Given the description of an element on the screen output the (x, y) to click on. 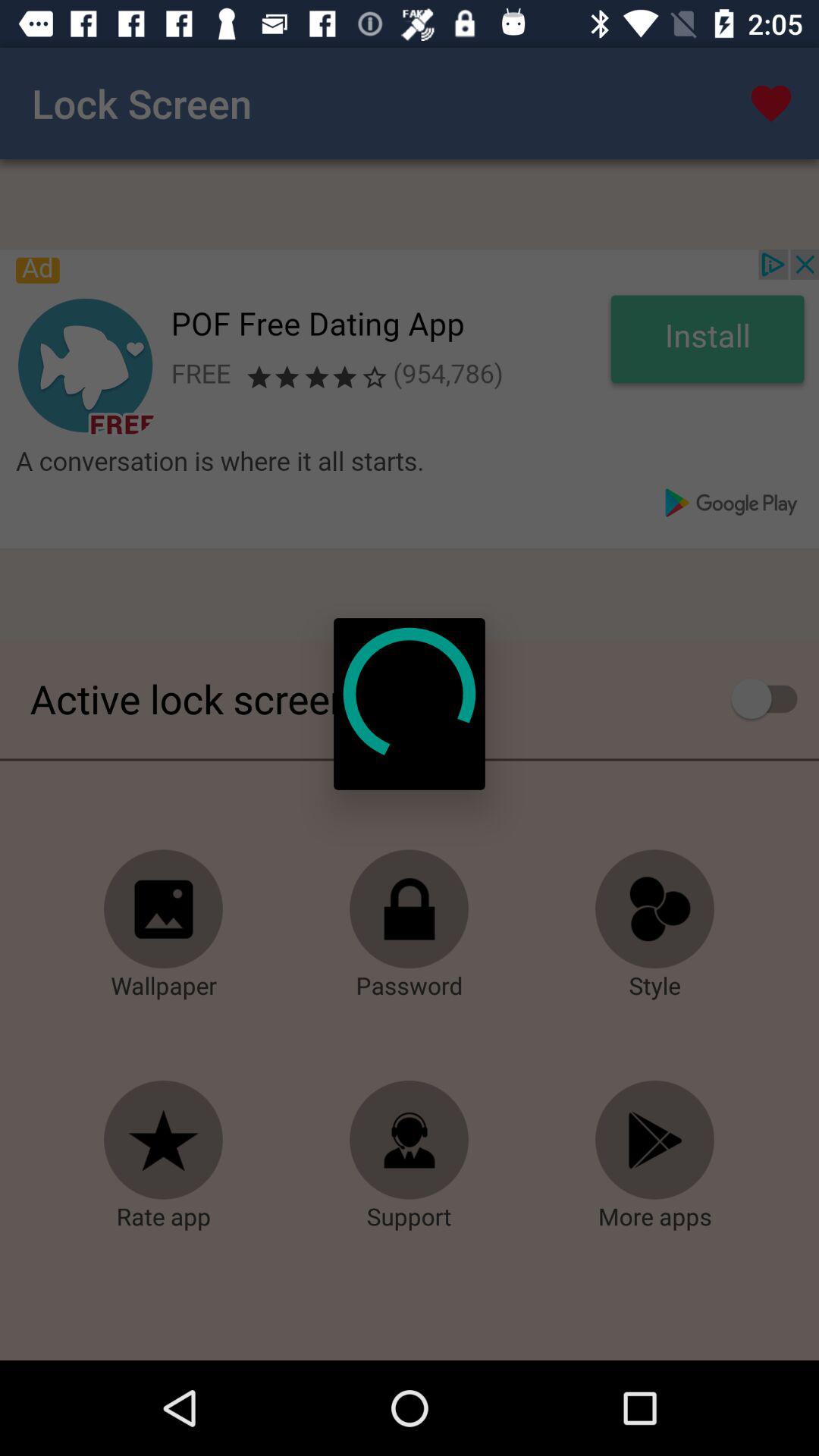
opens a page to contact support (409, 1140)
